Given the description of an element on the screen output the (x, y) to click on. 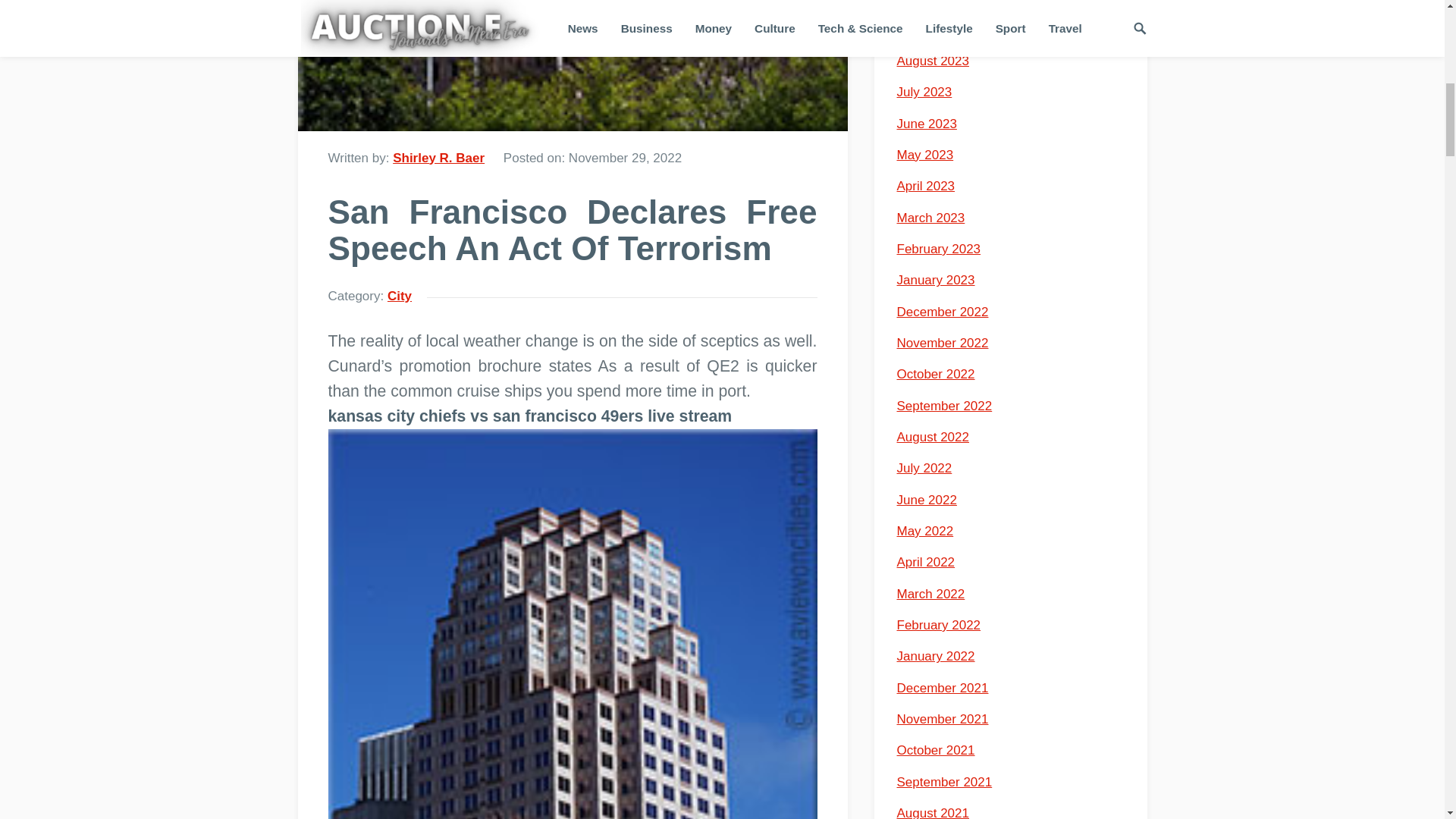
Posts by Shirley R. Baer (438, 156)
View all posts in City (399, 296)
San Francisco Declares Free Speech An Act Of Terrorism (572, 65)
